Given the description of an element on the screen output the (x, y) to click on. 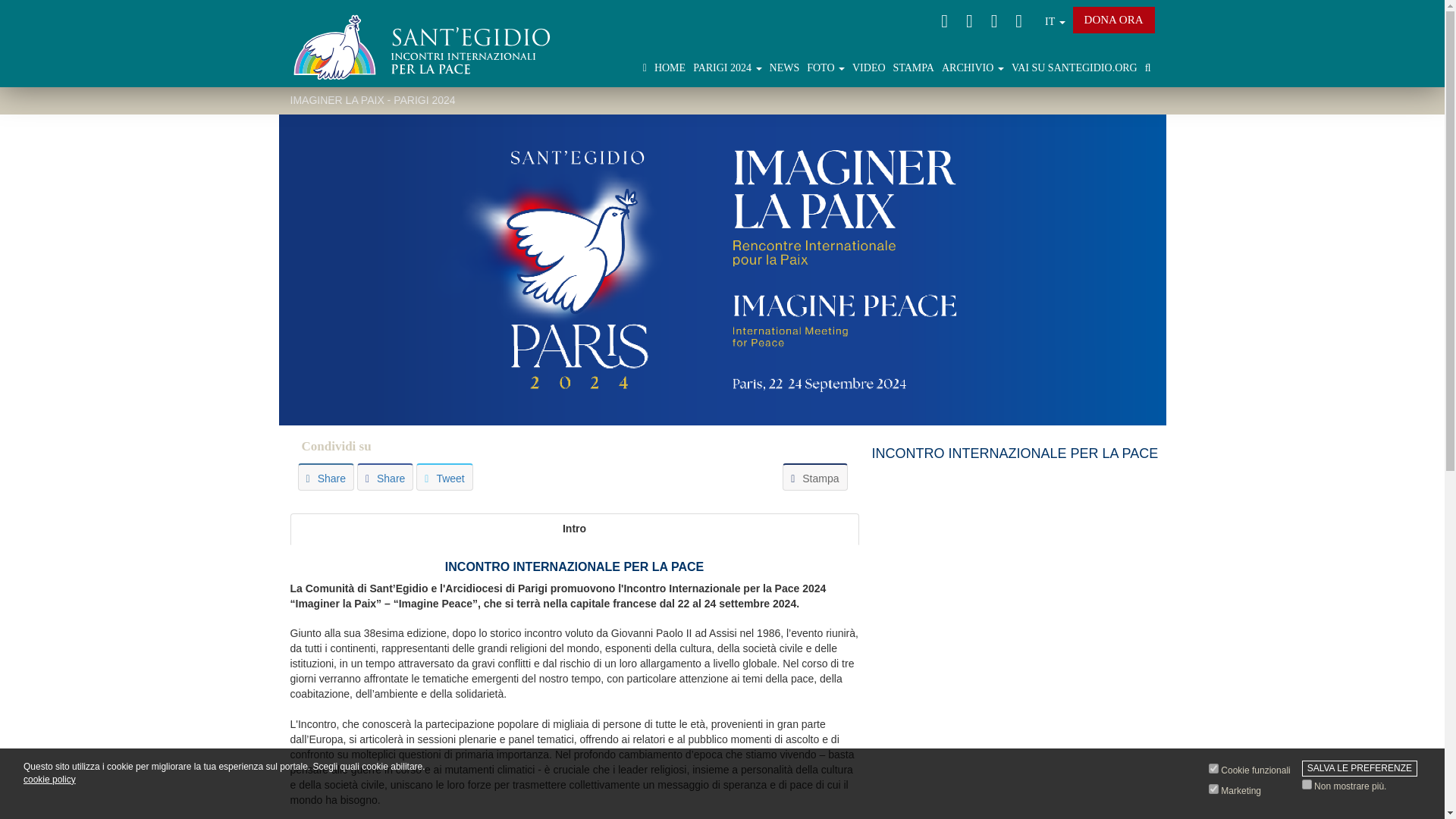
VIDEO (23, 183)
on (1306, 784)
on (1213, 788)
STAMPA (27, 204)
HOME (23, 98)
Parigi 2024 (31, 120)
on (1213, 768)
ARCHIVIO (33, 225)
HOME (26, 77)
FOTO (20, 162)
